Given the description of an element on the screen output the (x, y) to click on. 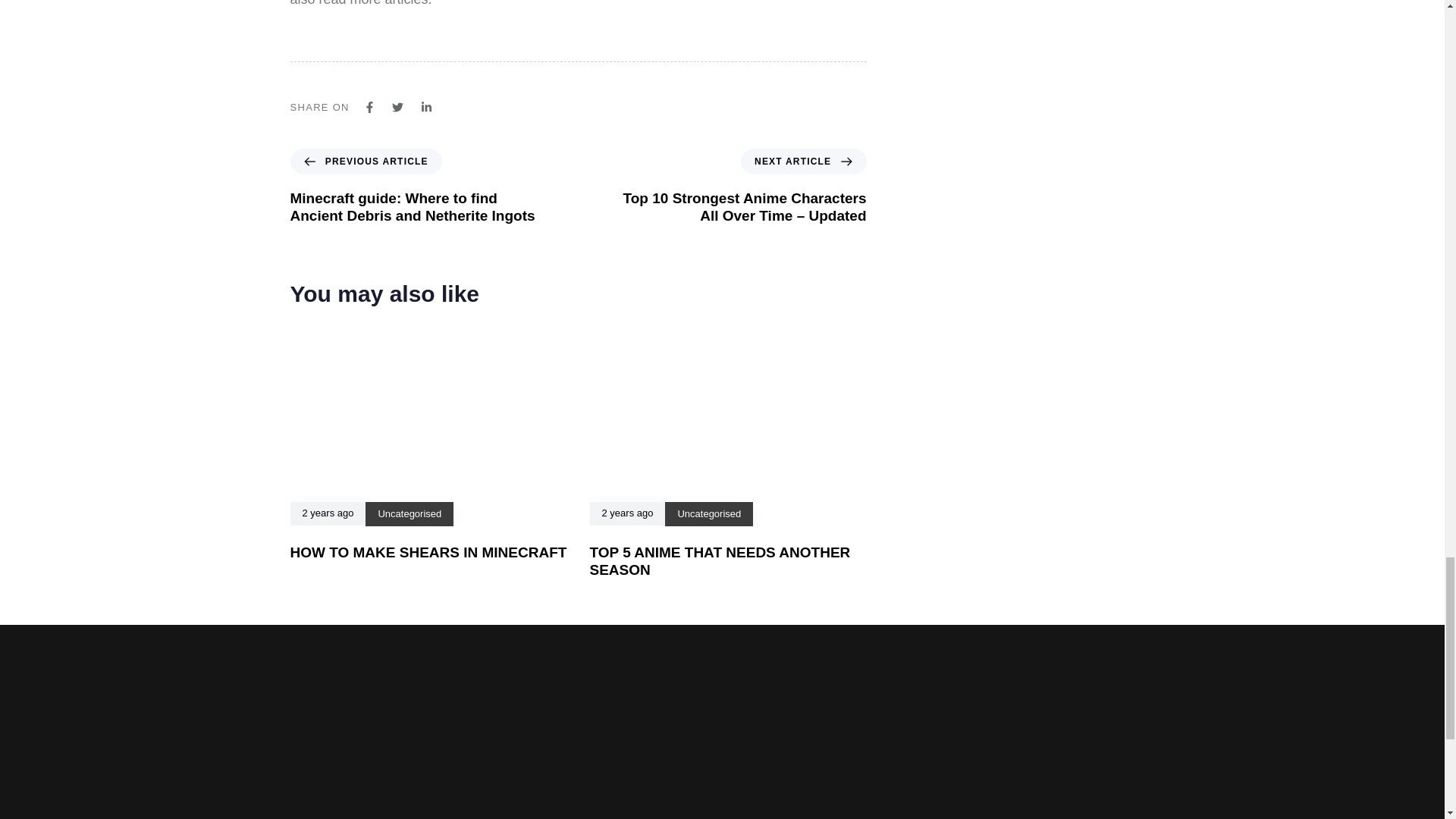
TOP 5 ANIME THAT NEEDS ANOTHER SEASON (719, 561)
Uncategorised (709, 513)
Uncategorised (409, 513)
HOW TO MAKE SHEARS IN MINECRAFT (427, 552)
